Given the description of an element on the screen output the (x, y) to click on. 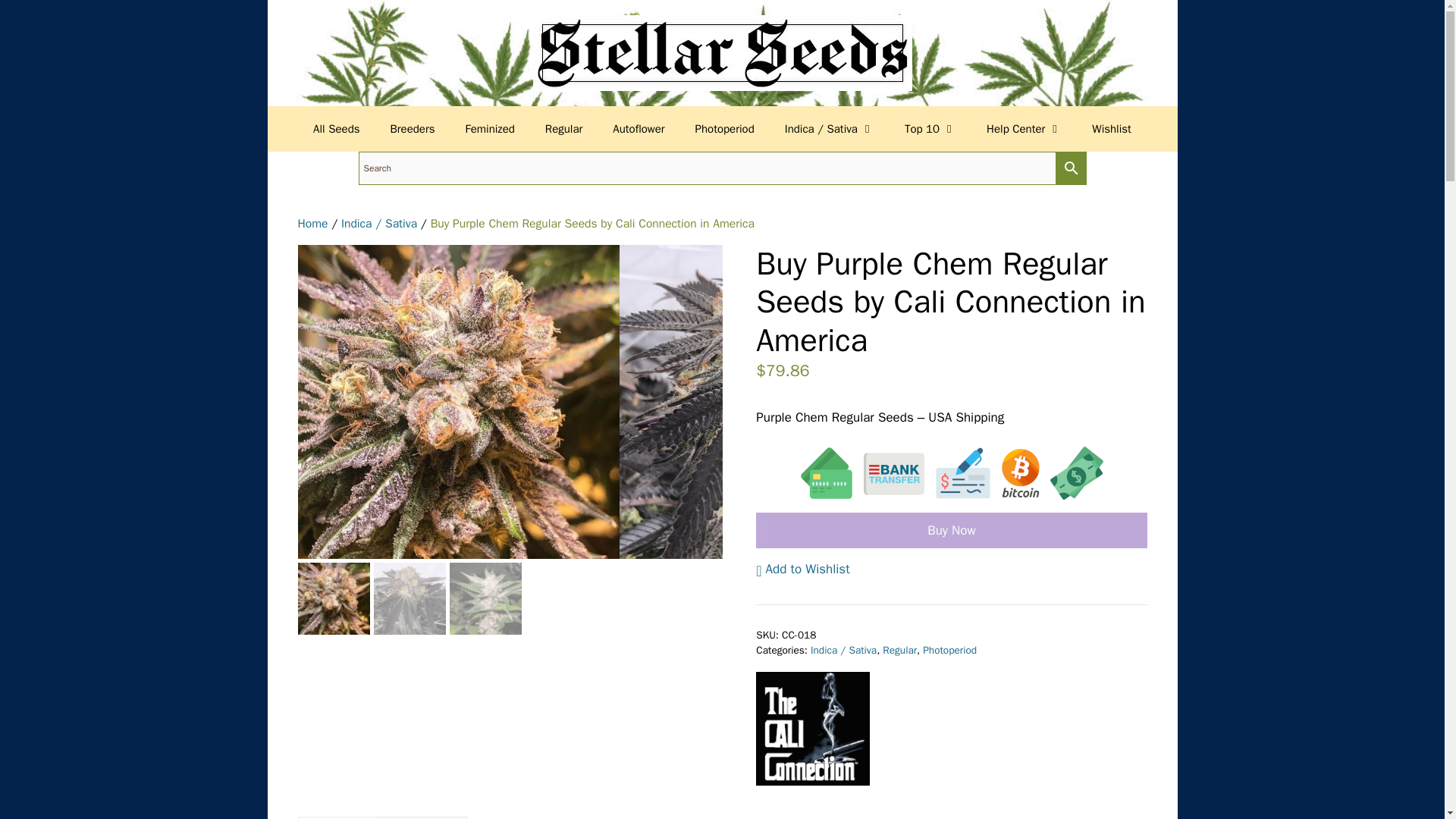
Purple Chem Feminized Seeds (457, 401)
Regular (562, 128)
All Seeds (336, 128)
Top 10 (930, 128)
Cali Connection (812, 731)
Feminized (489, 128)
Breeders (412, 128)
Purple Chem Feminized Seeds (779, 404)
Autoflower (637, 128)
Photoperiod (724, 128)
